Given the description of an element on the screen output the (x, y) to click on. 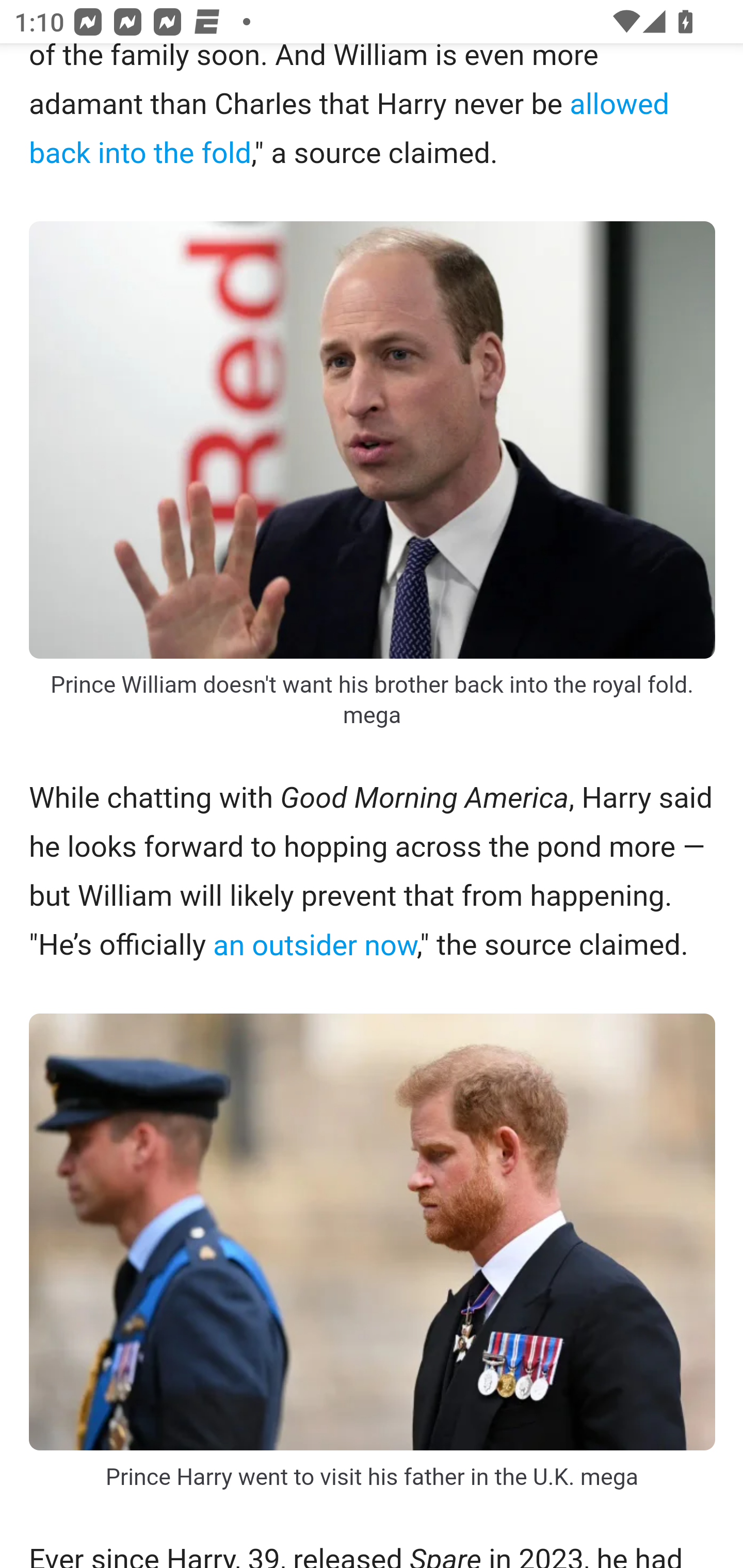
allowed back into the fold (348, 130)
an outsider now (314, 945)
